Given the description of an element on the screen output the (x, y) to click on. 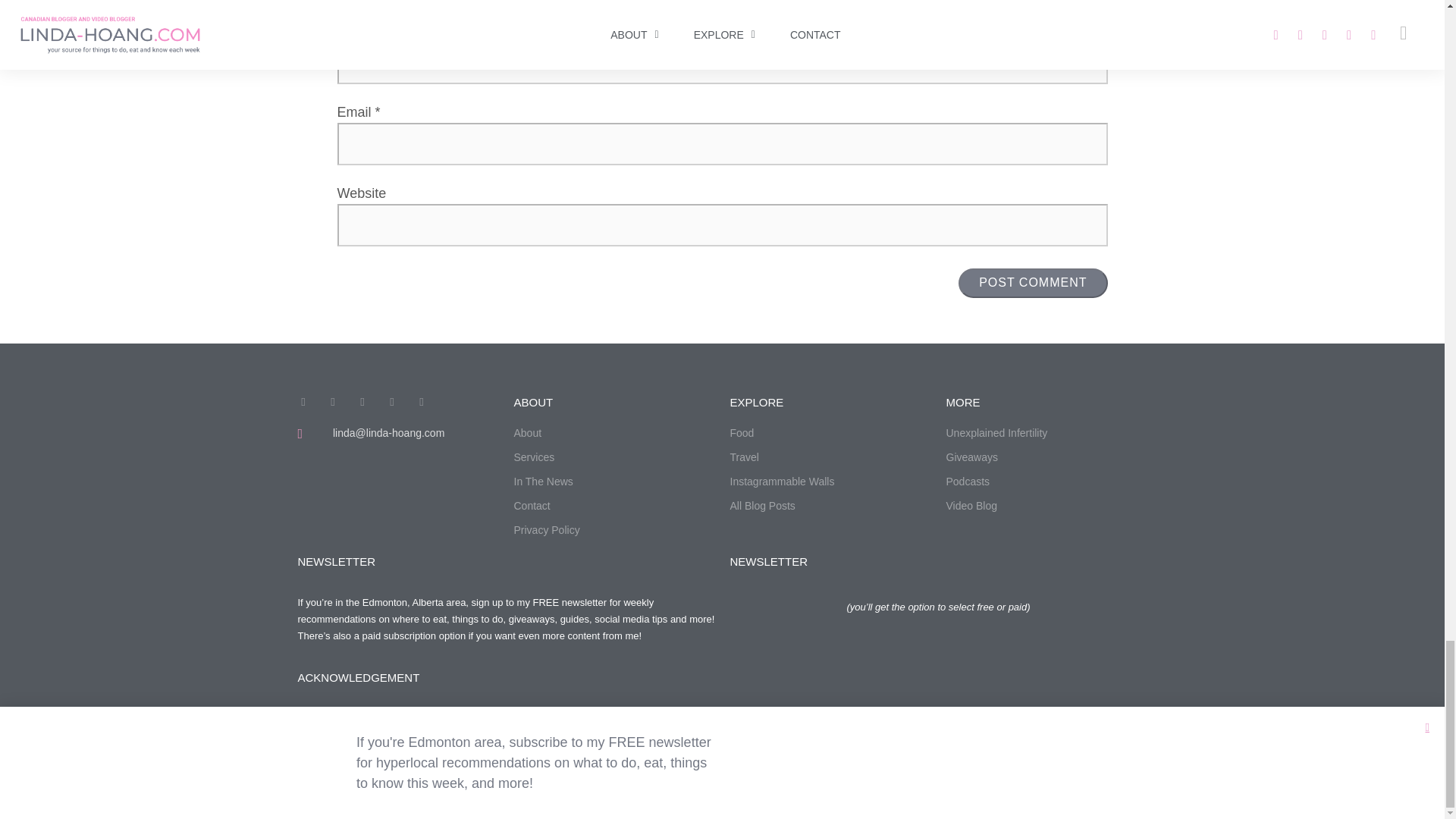
Post Comment (1032, 282)
